Given the description of an element on the screen output the (x, y) to click on. 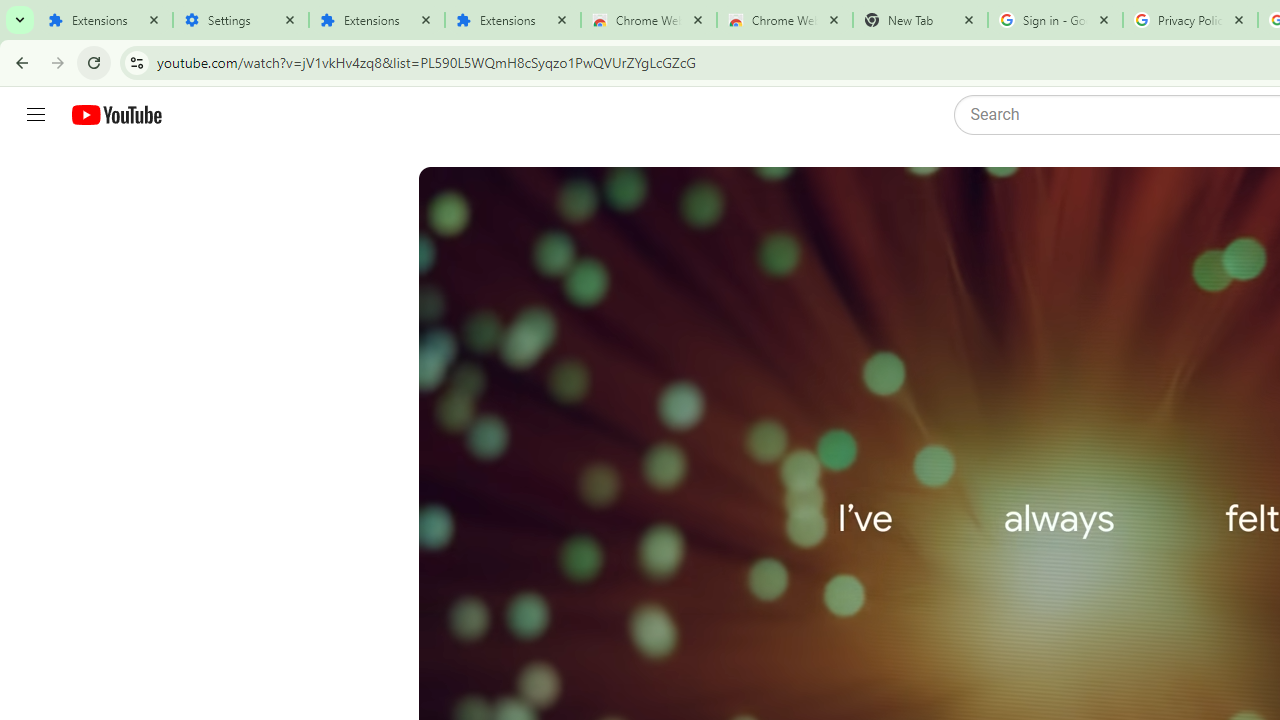
Extensions (104, 20)
Extensions (376, 20)
YouTube Home (116, 115)
Chrome Web Store - Themes (784, 20)
Guide (35, 115)
Extensions (513, 20)
New Tab (920, 20)
Sign in - Google Accounts (1055, 20)
